Given the description of an element on the screen output the (x, y) to click on. 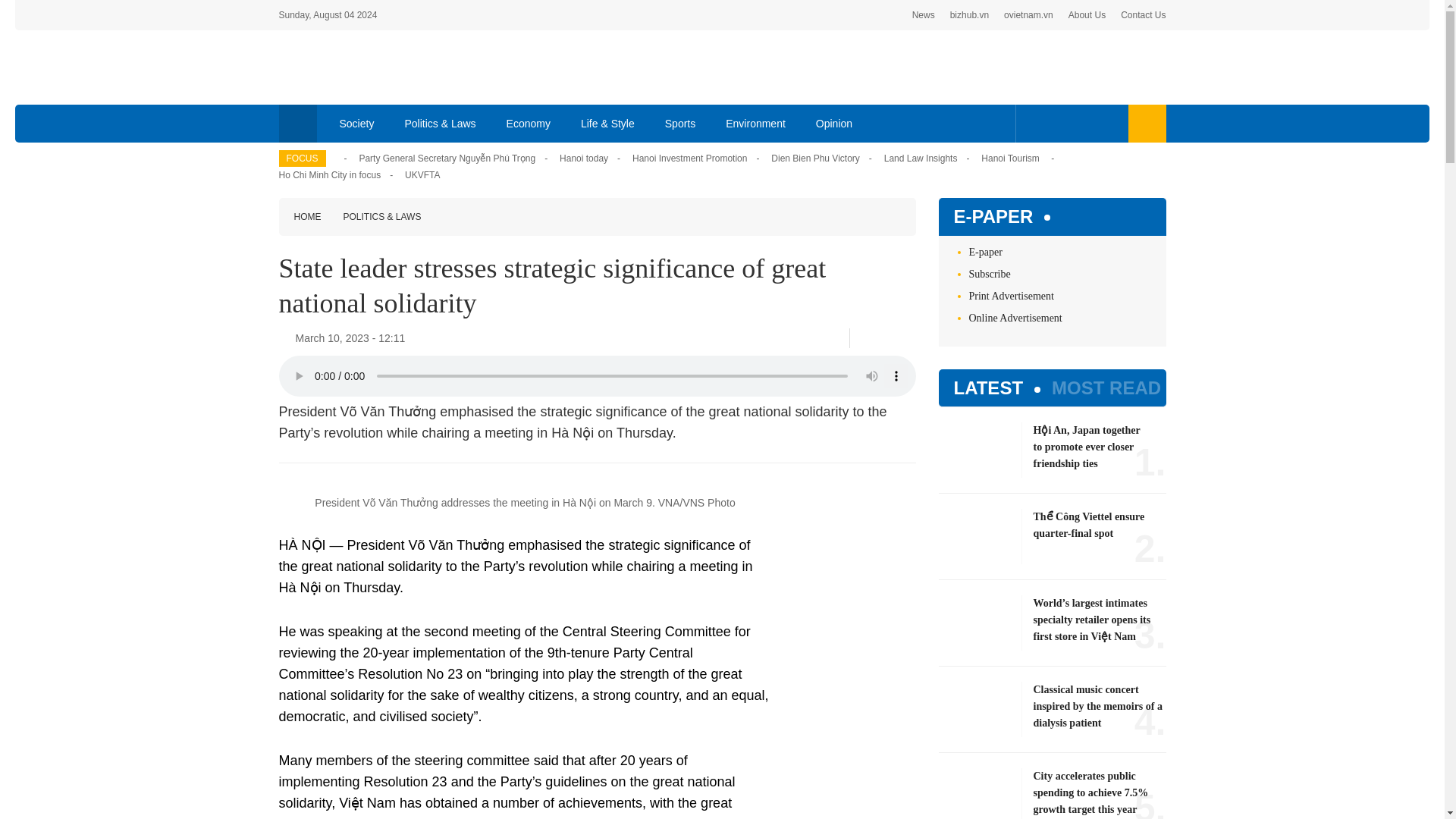
Contact Us (1143, 15)
Twitter (1056, 122)
Instagram (1106, 123)
ovietnam.vn (1028, 15)
News (923, 15)
Opinion (833, 123)
Sports (679, 123)
bizhub.vn (969, 15)
About Us (1086, 15)
Email (909, 338)
Youtube (1081, 122)
Society (357, 123)
Facebook (865, 337)
Environment (755, 123)
Facebook (1035, 123)
